Given the description of an element on the screen output the (x, y) to click on. 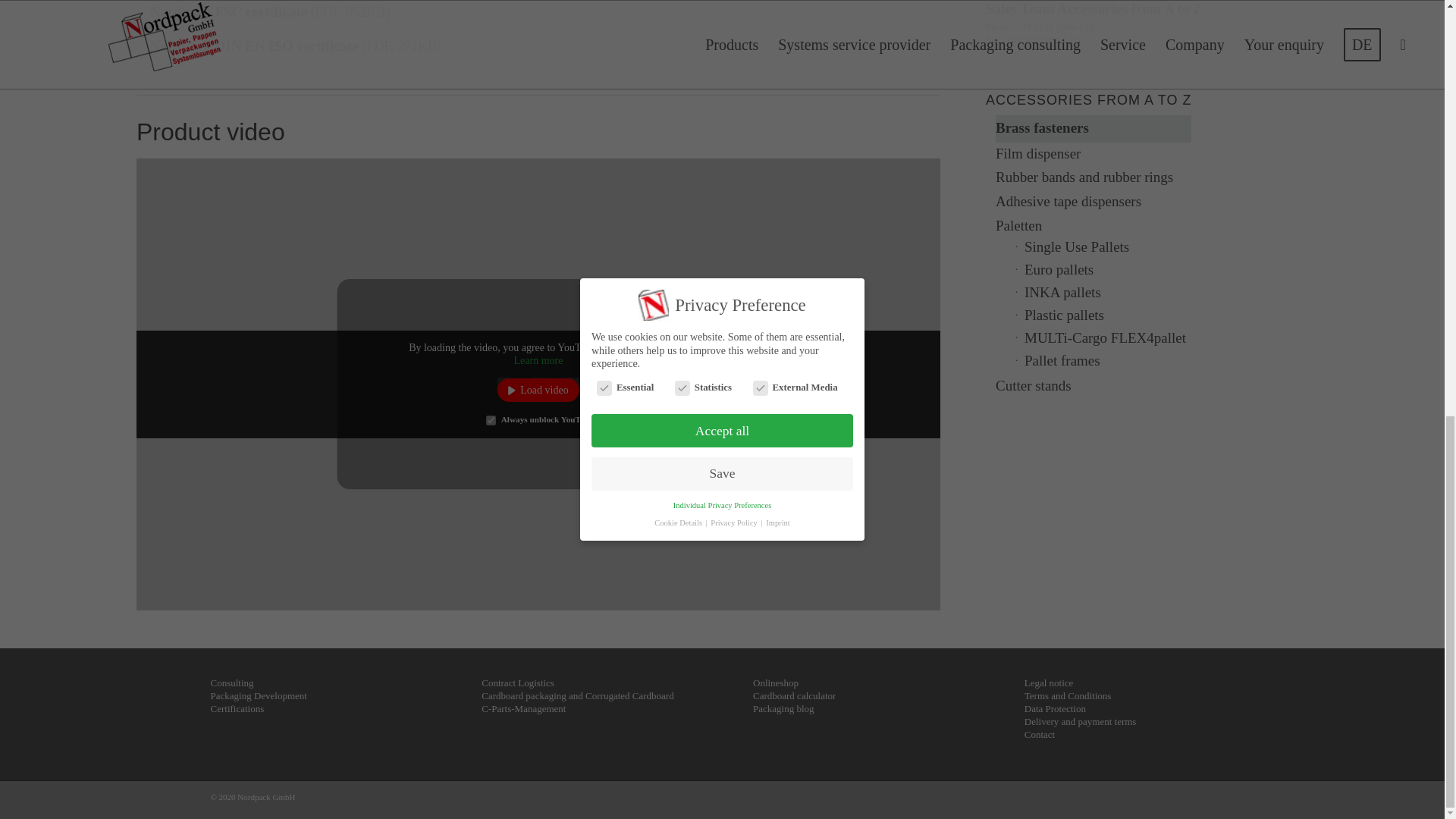
1 (491, 420)
Twitter (1200, 799)
Dribbble (1222, 799)
